Given the description of an element on the screen output the (x, y) to click on. 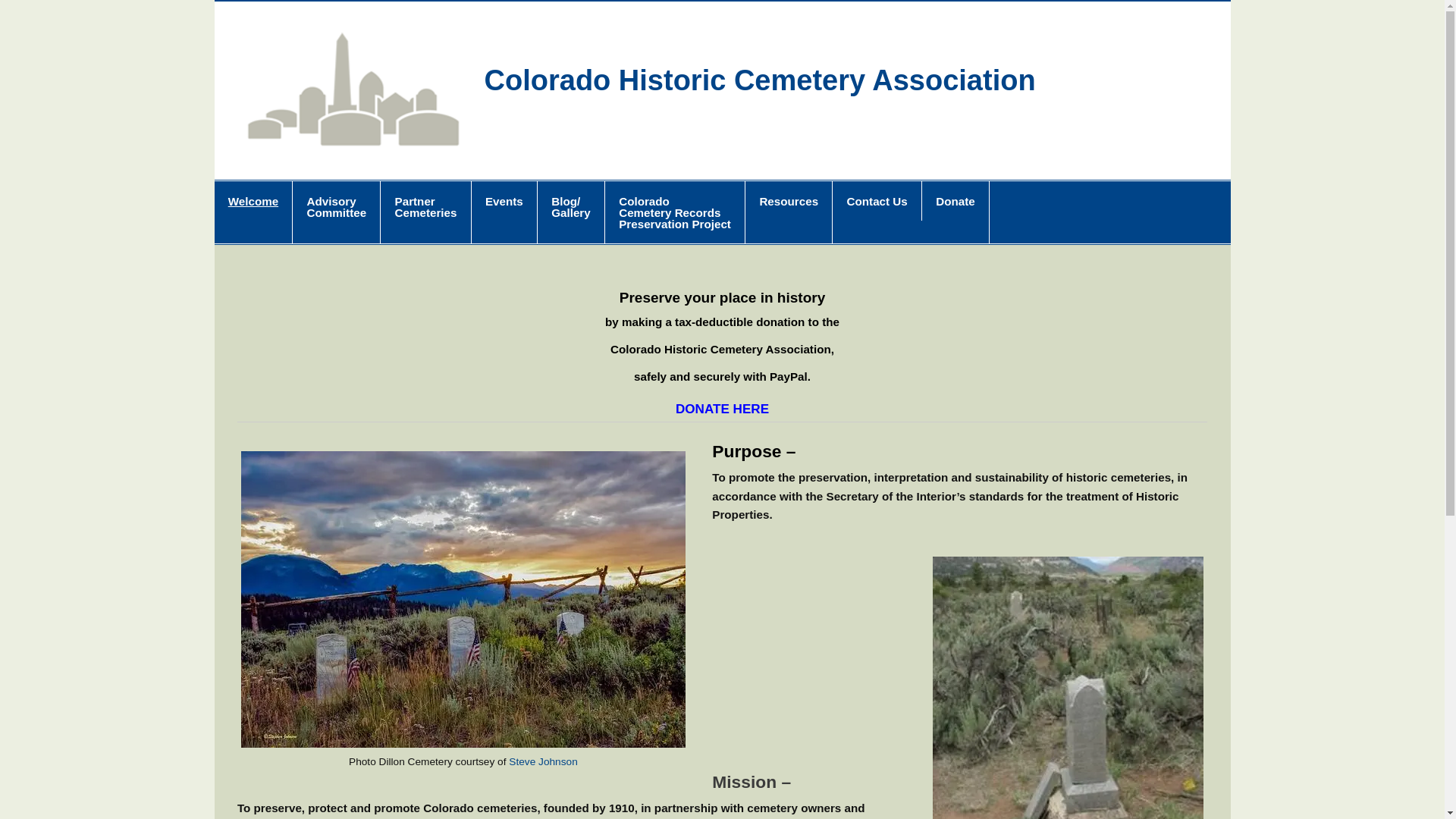
Welcome (253, 211)
Donate (954, 211)
Colorado Historic Cemetery Association (759, 80)
Contact Us (876, 200)
Events (674, 211)
Resources (504, 211)
Steve Johnson (788, 211)
